Given the description of an element on the screen output the (x, y) to click on. 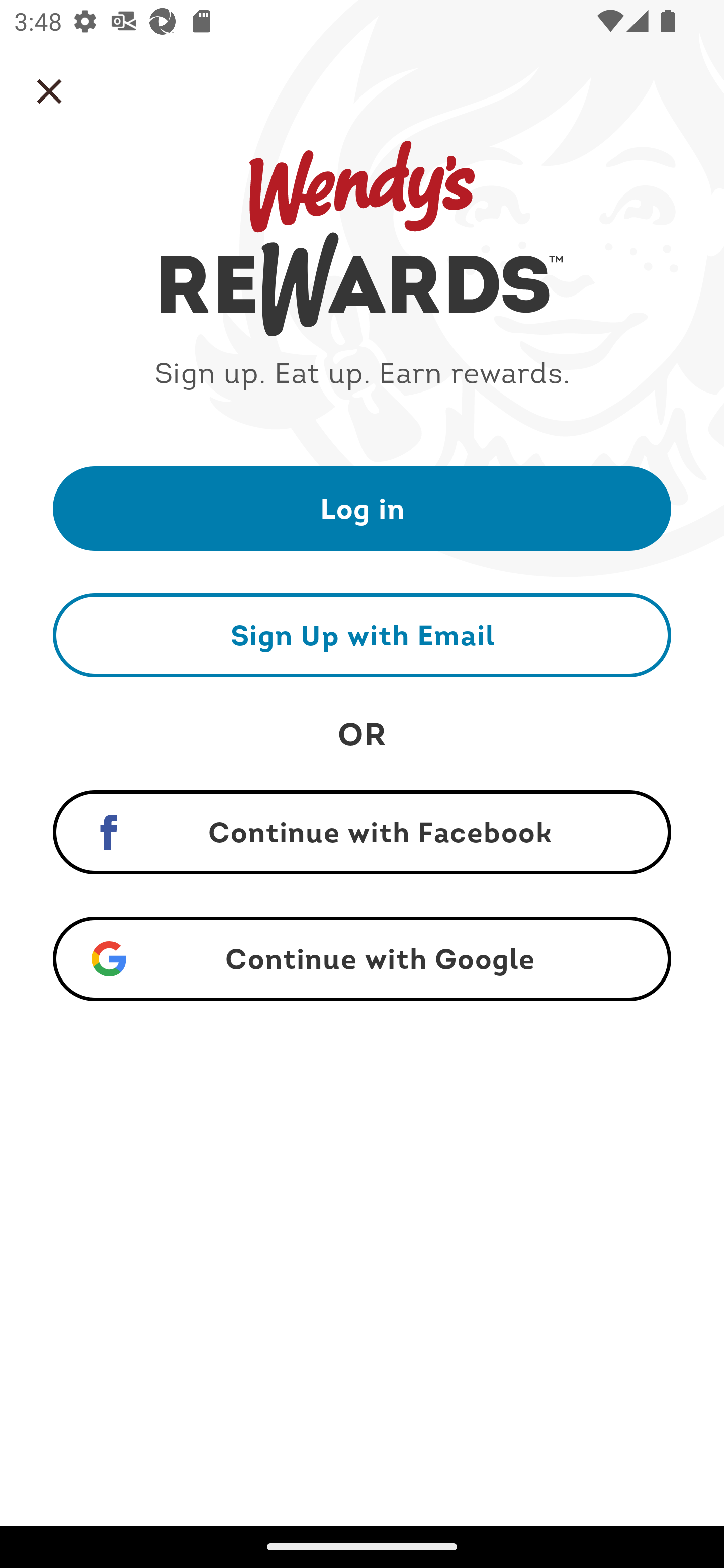
close (49, 91)
Log in (361, 507)
Sign Up with Email (361, 634)
Continue with Facebook (361, 832)
Continue with Google (361, 958)
